Given the description of an element on the screen output the (x, y) to click on. 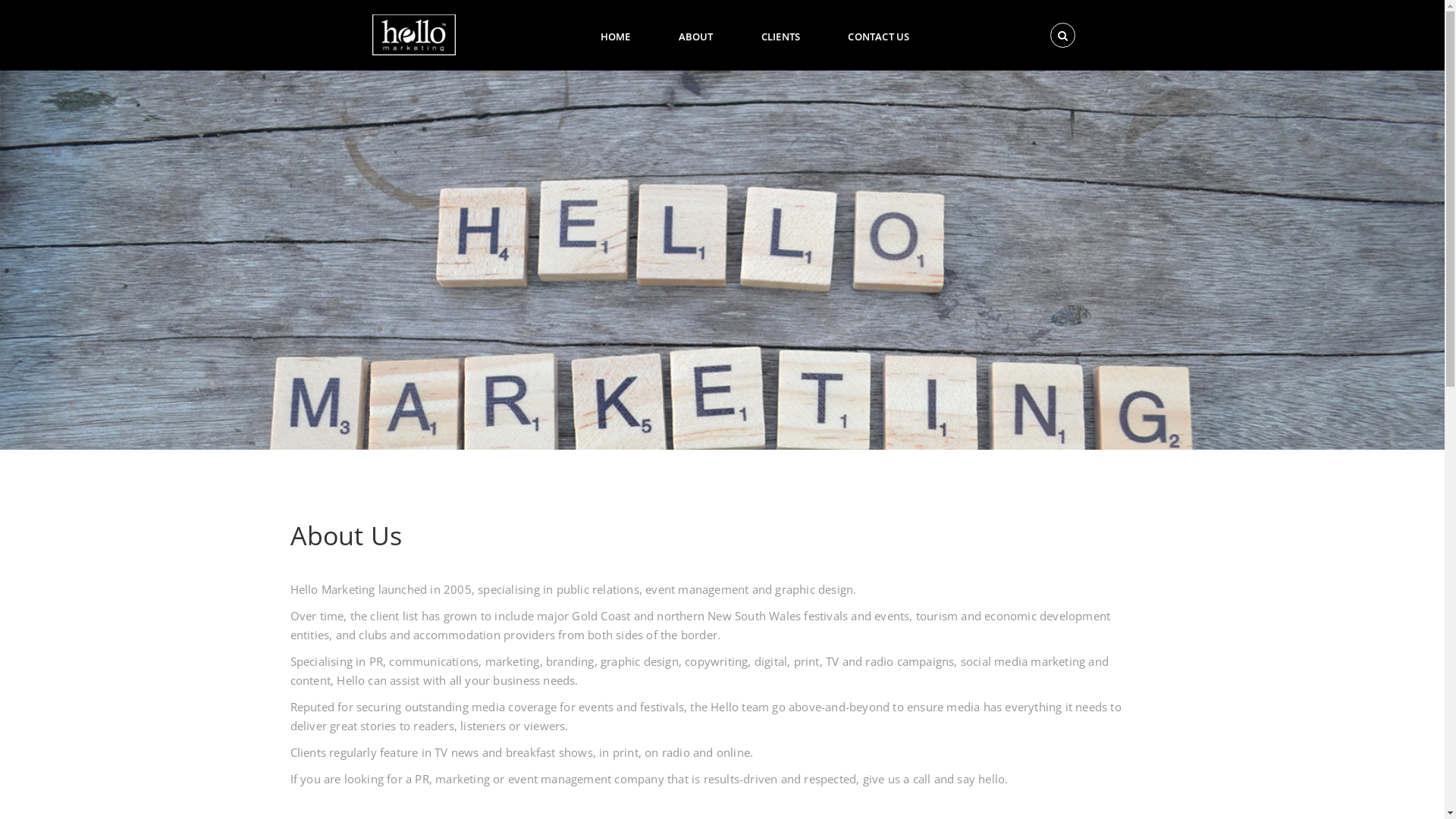
HOME Element type: text (615, 35)
ABOUT Element type: text (695, 35)
CONTACT US Element type: text (878, 35)
CLIENTS Element type: text (780, 35)
